Given the description of an element on the screen output the (x, y) to click on. 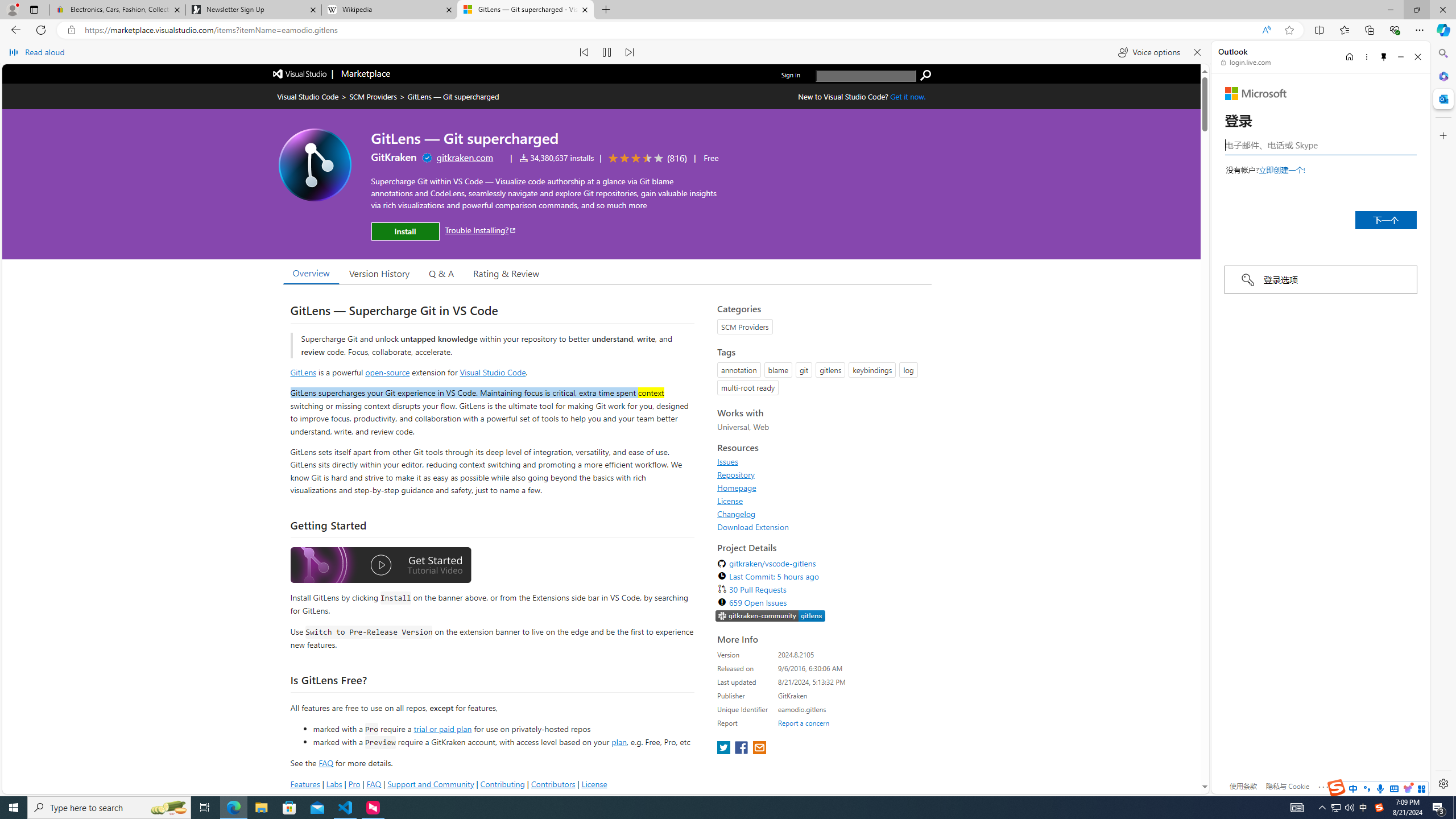
Q & A (441, 272)
Download Extension (753, 526)
Read next paragraph (628, 52)
